Given the description of an element on the screen output the (x, y) to click on. 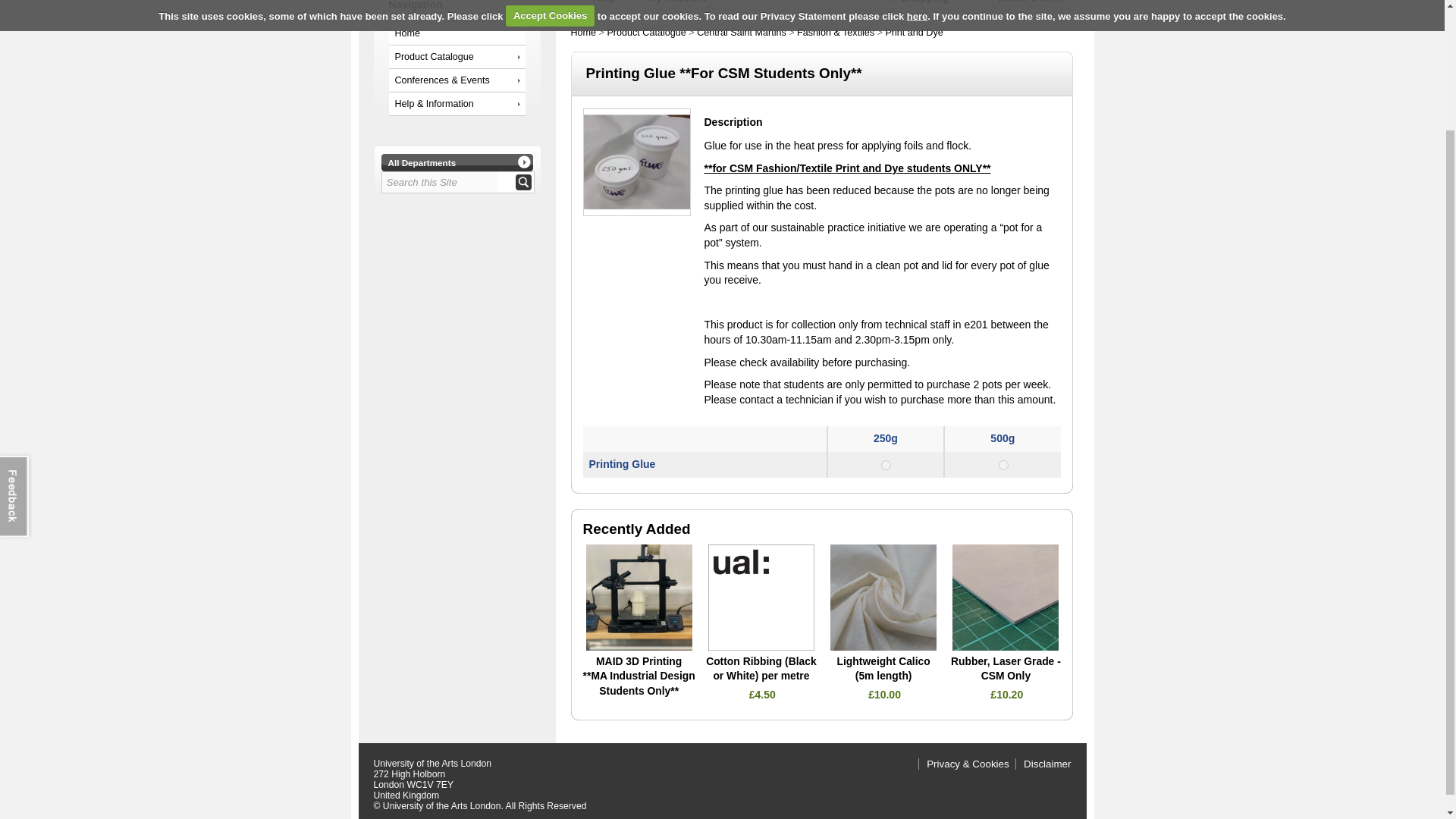
Home (456, 33)
Search this Site (439, 181)
Launch feedback form (16, 348)
Search this Site (439, 181)
Product Catalogue (456, 56)
on (885, 465)
on (1003, 465)
